Given the description of an element on the screen output the (x, y) to click on. 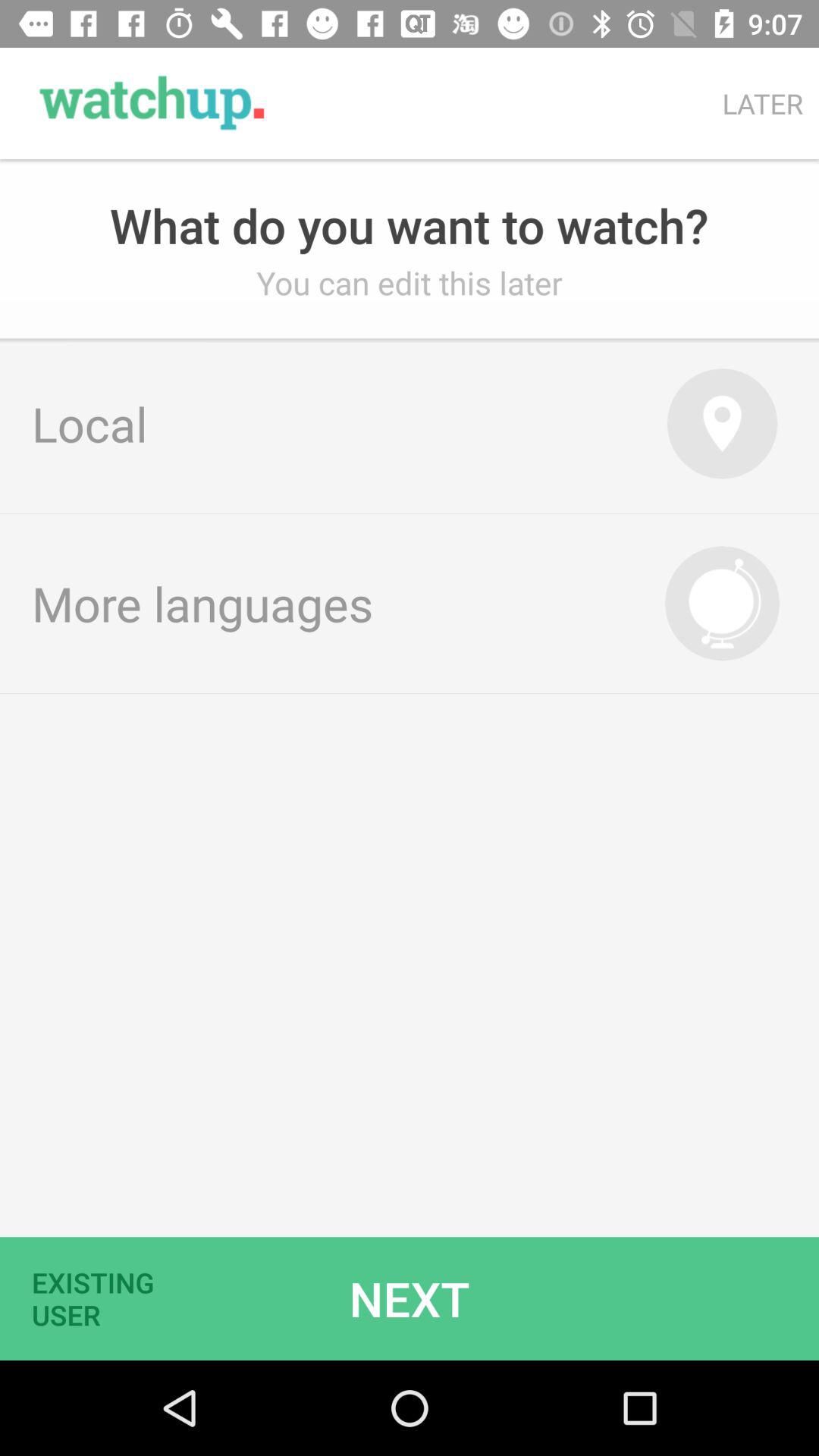
turn off the icon next to next (102, 1298)
